Given the description of an element on the screen output the (x, y) to click on. 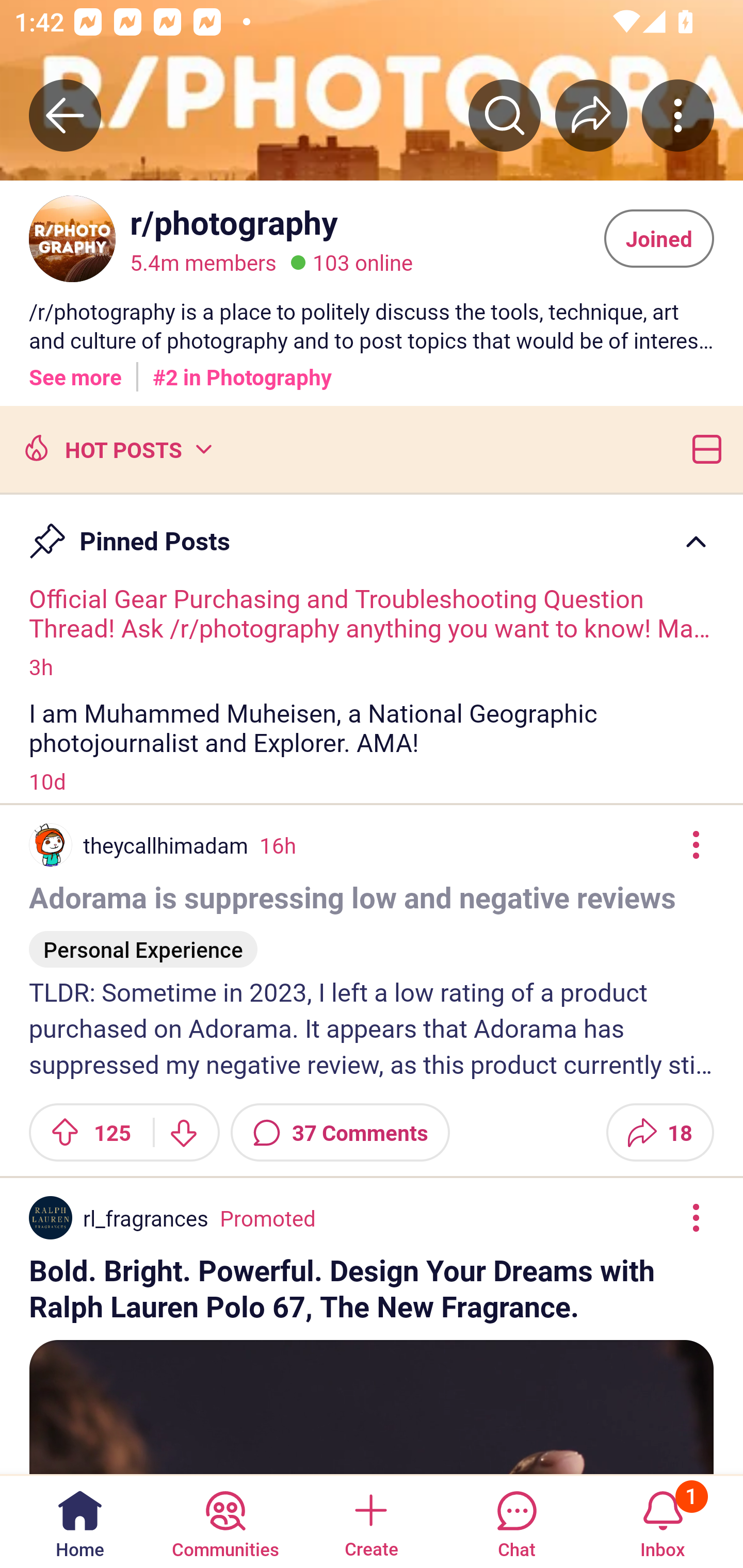
Back (64, 115)
Search r/﻿photography (504, 115)
Share r/﻿photography (591, 115)
More community actions (677, 115)
Hot posts HOT POSTS (116, 448)
Card (703, 448)
Pin Pinned Posts Caret (371, 531)
Personal Experience (142, 940)
Home (80, 1520)
Communities (225, 1520)
Create a post Create (370, 1520)
Chat (516, 1520)
Inbox, has 1 notification 1 Inbox (662, 1520)
